Given the description of an element on the screen output the (x, y) to click on. 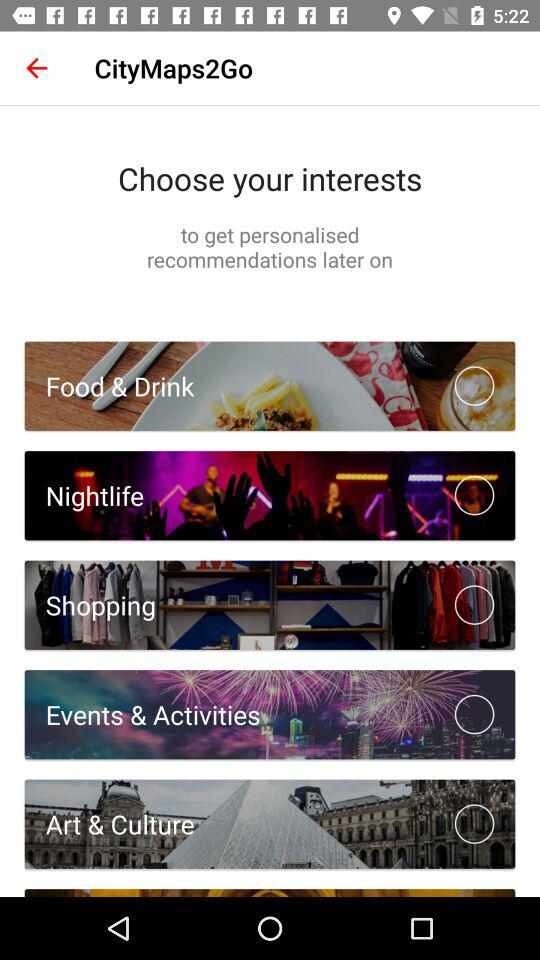
scroll until food & drink item (109, 385)
